Given the description of an element on the screen output the (x, y) to click on. 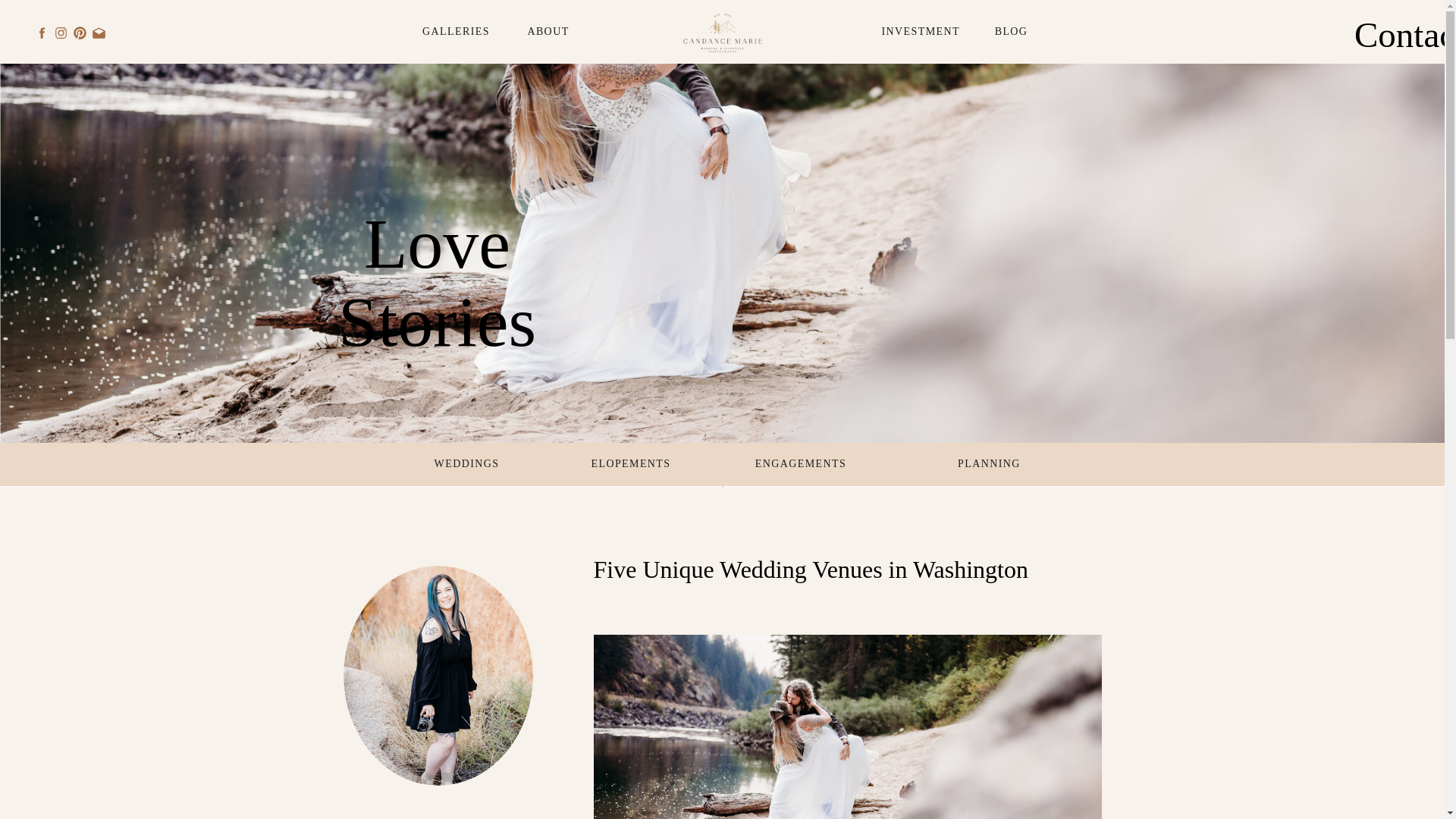
WEDDINGS (466, 463)
ABOUT (547, 32)
BLOG (1010, 32)
ELOPEMENTS (628, 463)
ENGAGEMENTS (801, 463)
INVESTMENT (917, 31)
PLANNING (989, 463)
GALLERIES (456, 32)
